Given the description of an element on the screen output the (x, y) to click on. 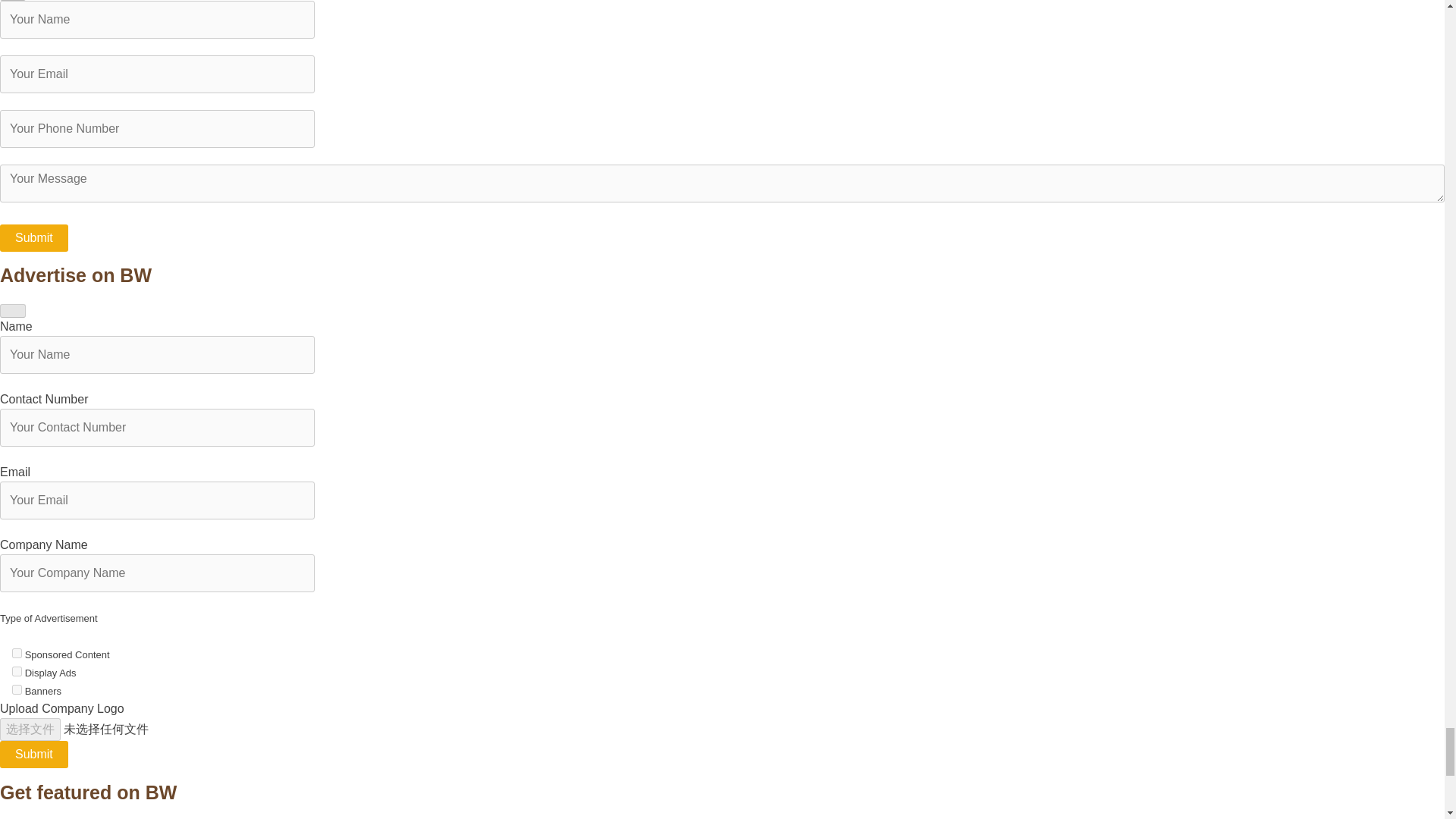
Display Ads (16, 671)
Banners (16, 689)
Submit (34, 754)
Sponsored Content (16, 653)
Submit (34, 237)
